Given the description of an element on the screen output the (x, y) to click on. 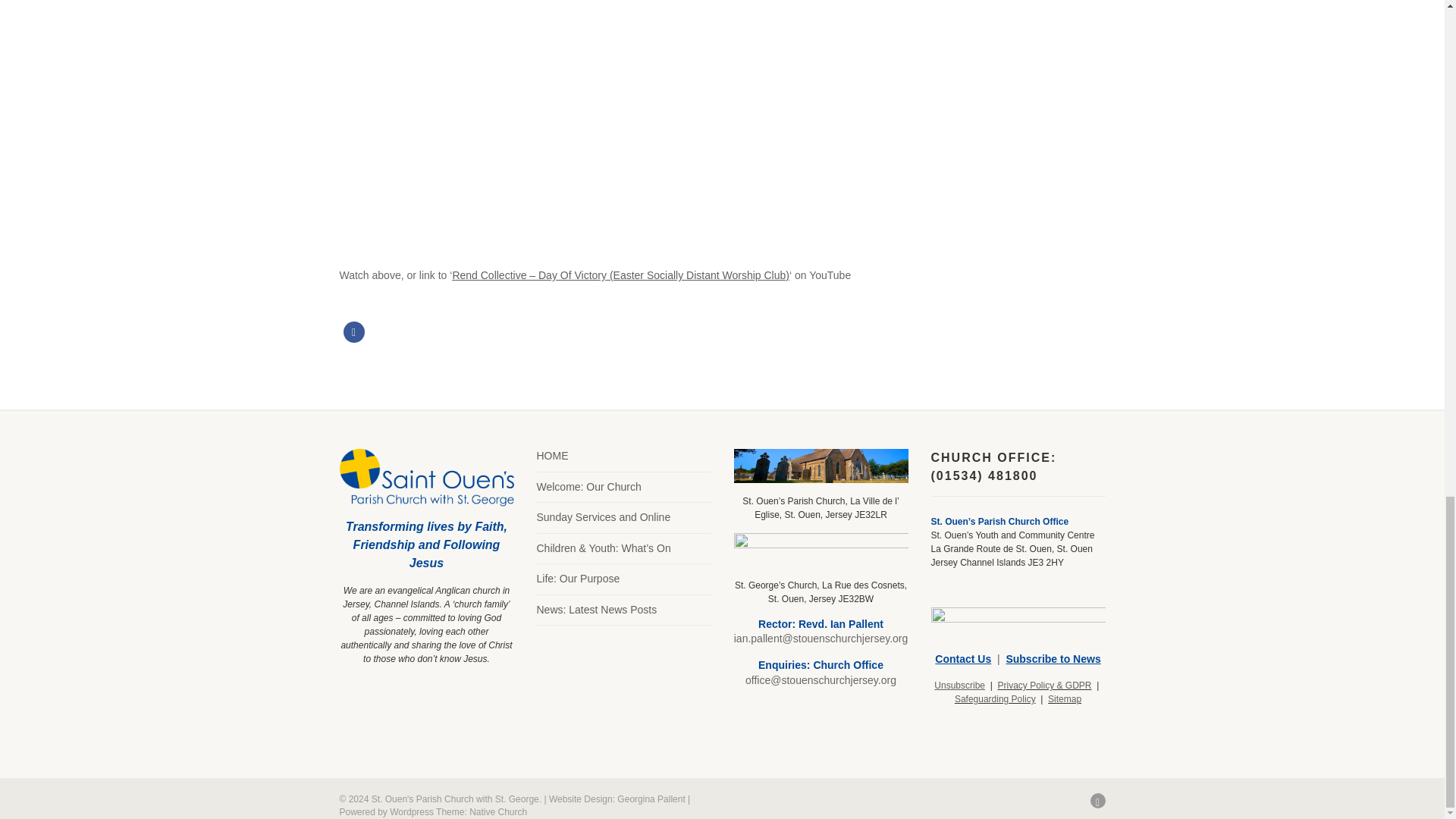
Share on Facebook (353, 332)
